Given the description of an element on the screen output the (x, y) to click on. 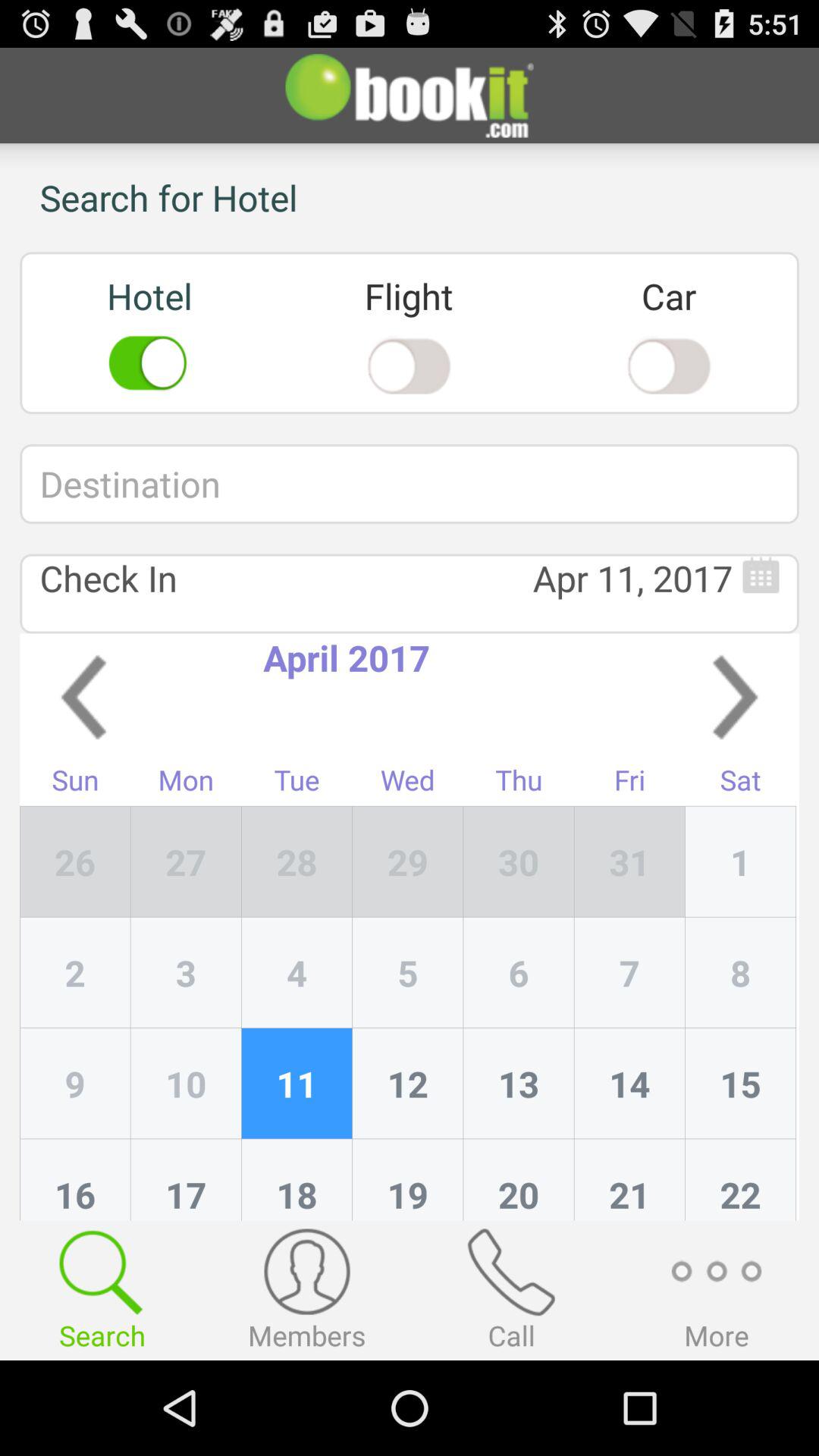
jump until 21 icon (629, 1179)
